Given the description of an element on the screen output the (x, y) to click on. 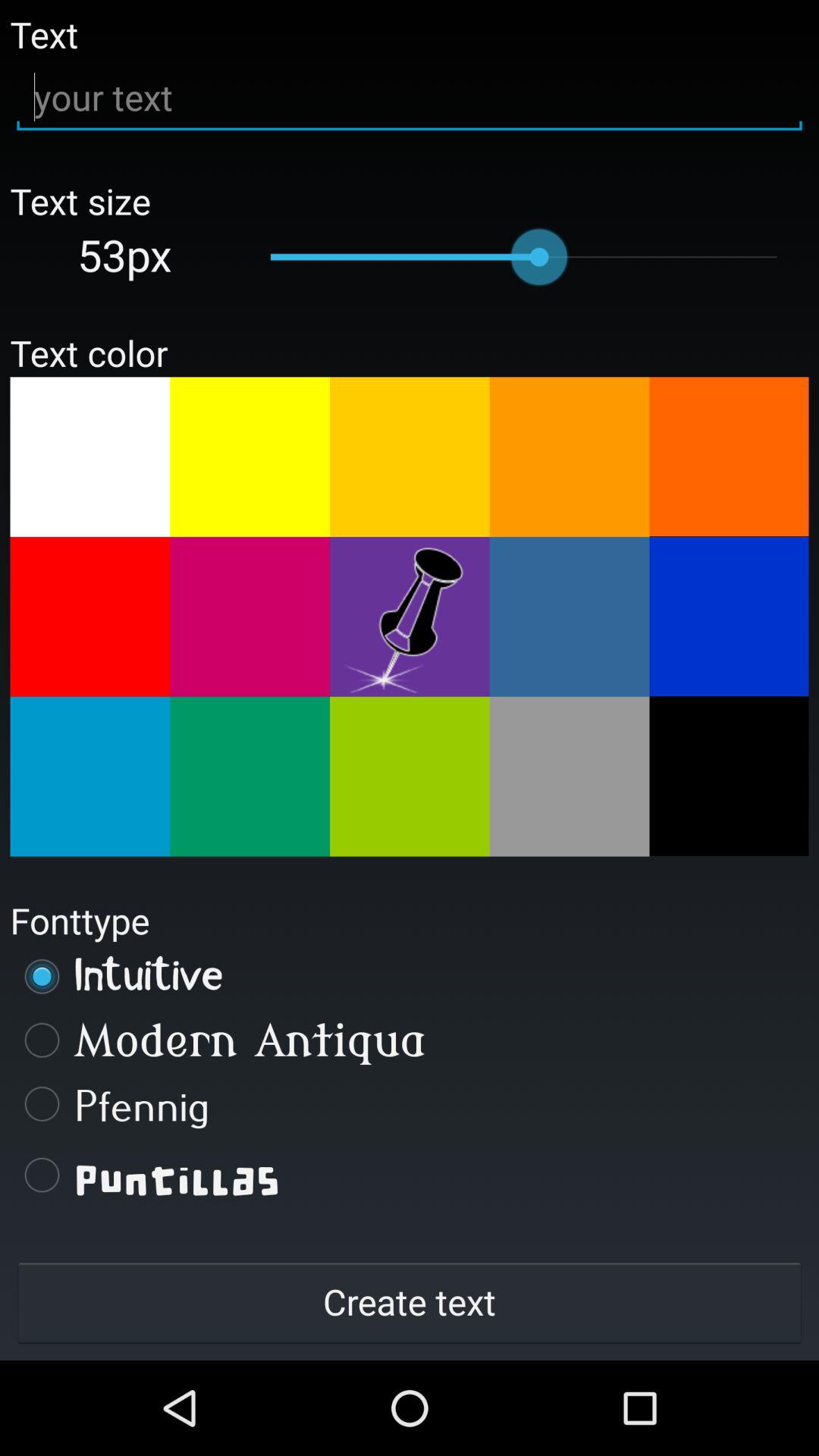
text color select (90, 776)
